Given the description of an element on the screen output the (x, y) to click on. 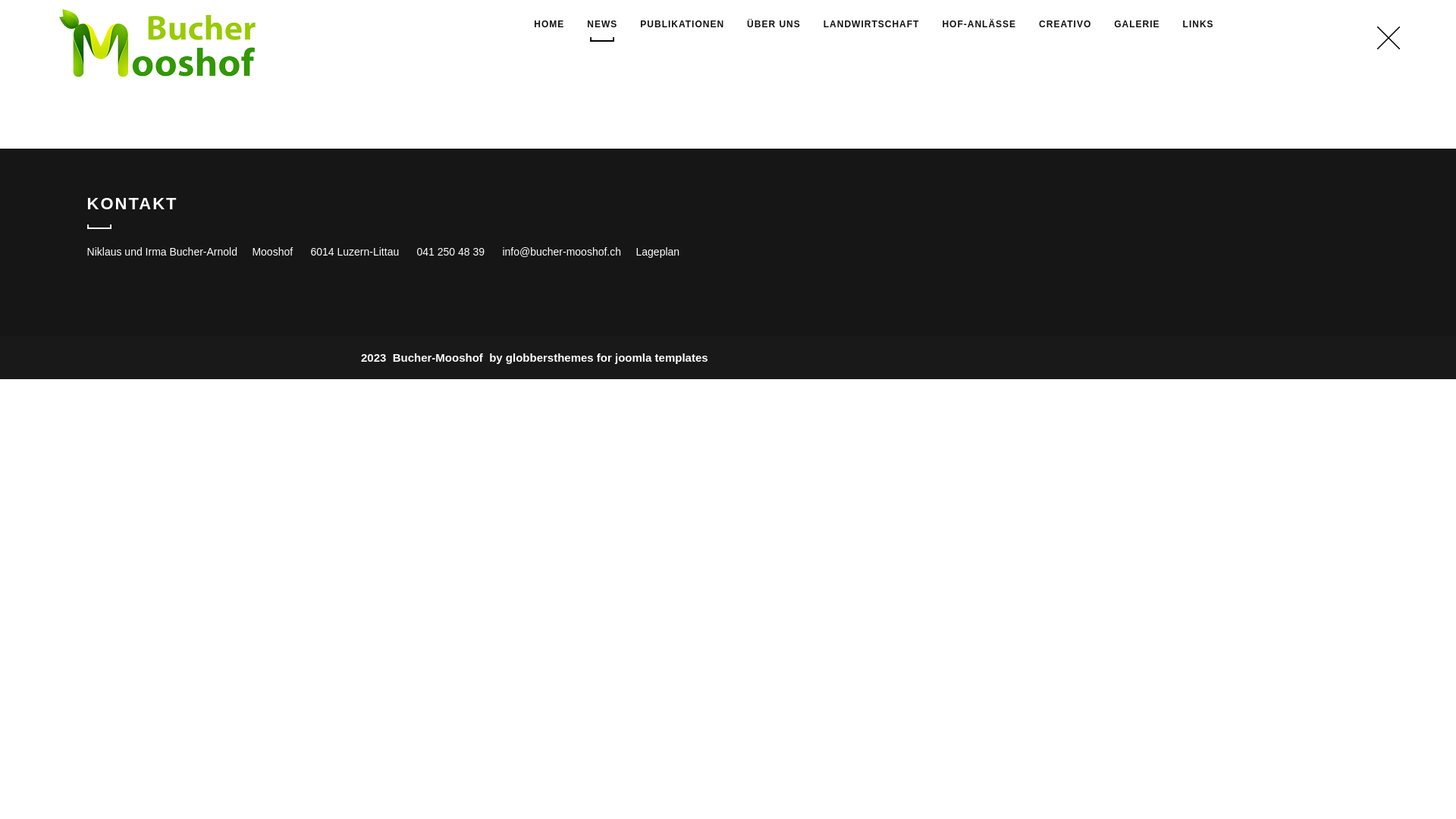
PUBLIKATIONEN Element type: text (681, 26)
joomla templates Element type: text (661, 357)
GALERIE Element type: text (1136, 26)
NEWS Element type: text (601, 26)
LINKS Element type: text (1198, 26)
Lageplan Element type: text (657, 251)
LANDWIRTSCHAFT Element type: text (871, 26)
info@bucher-mooshof.ch Element type: text (561, 251)
HOME Element type: text (548, 26)
CREATIVO Element type: text (1064, 26)
